Given the description of an element on the screen output the (x, y) to click on. 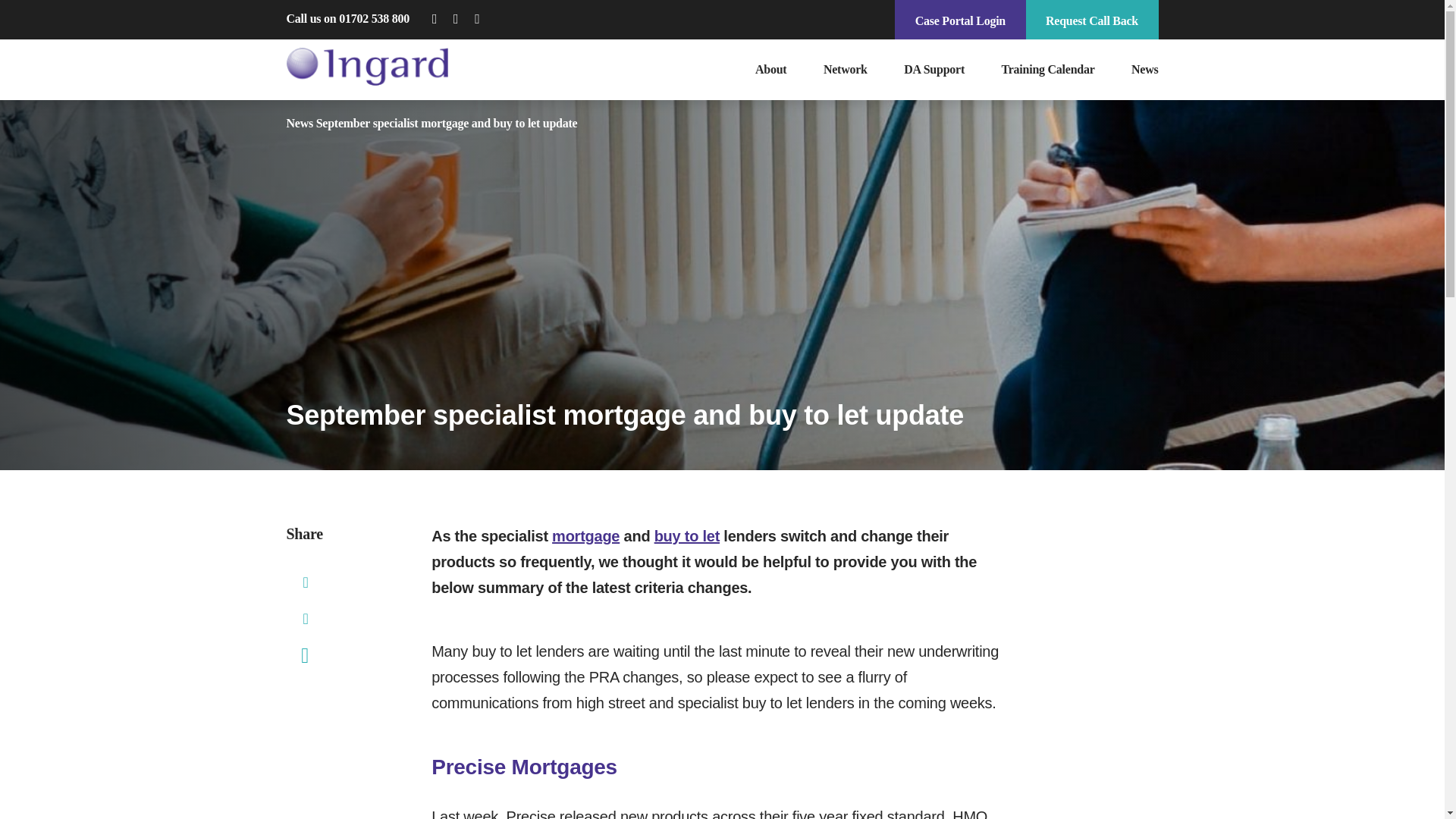
Training Calendar (1048, 69)
mortgage (585, 535)
Network (845, 69)
Case Portal Login (960, 19)
01702 538 800 (374, 18)
Request Call Back (1092, 19)
buy to let (686, 535)
DA Support (933, 69)
News (299, 123)
News (1135, 69)
